Given the description of an element on the screen output the (x, y) to click on. 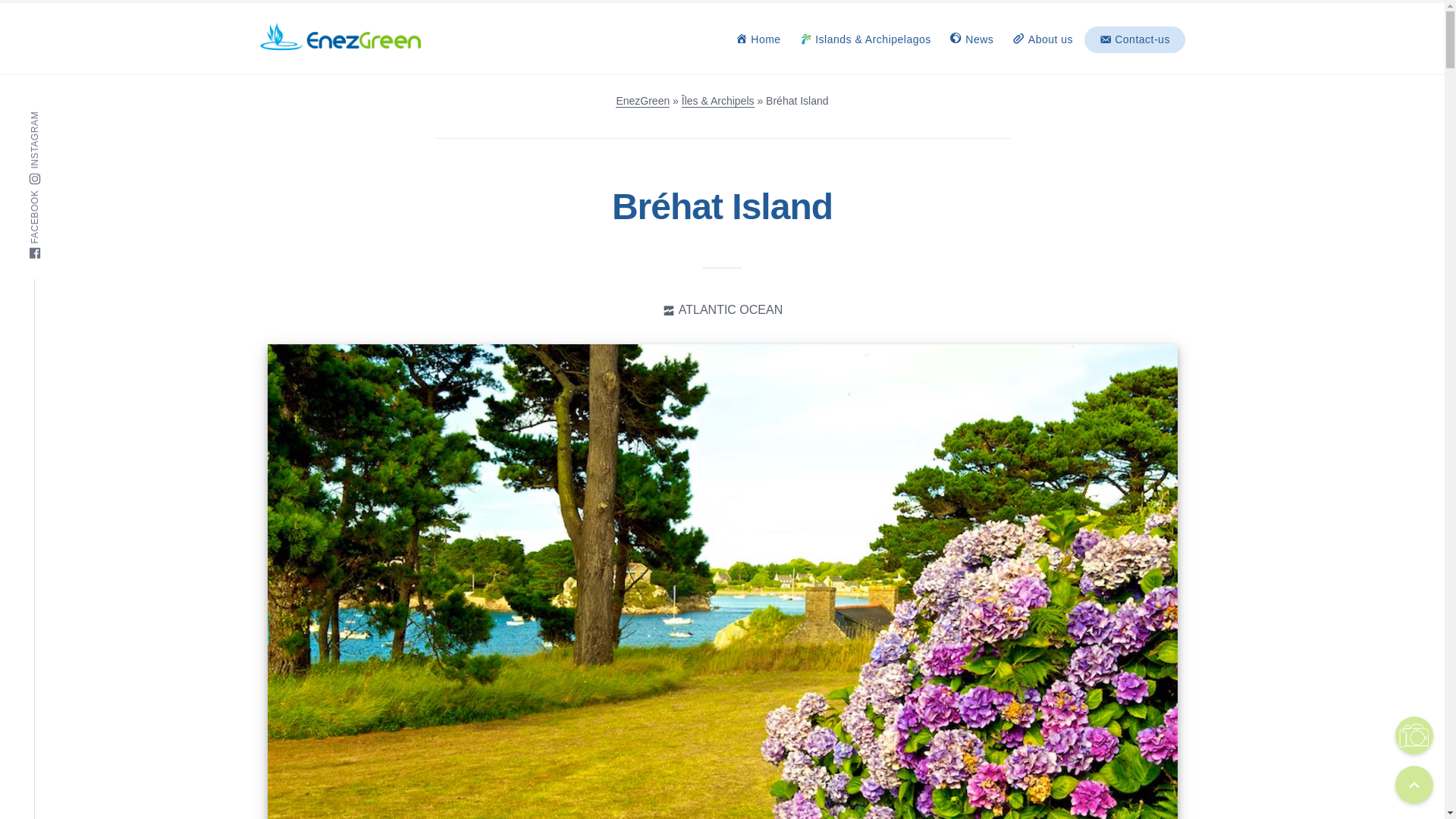
Home (758, 38)
About us (1042, 38)
EnezGreen (309, 63)
Contact-us (1134, 39)
EnezGreen (642, 101)
News (971, 38)
Go to EnezGreen. (642, 101)
